Given the description of an element on the screen output the (x, y) to click on. 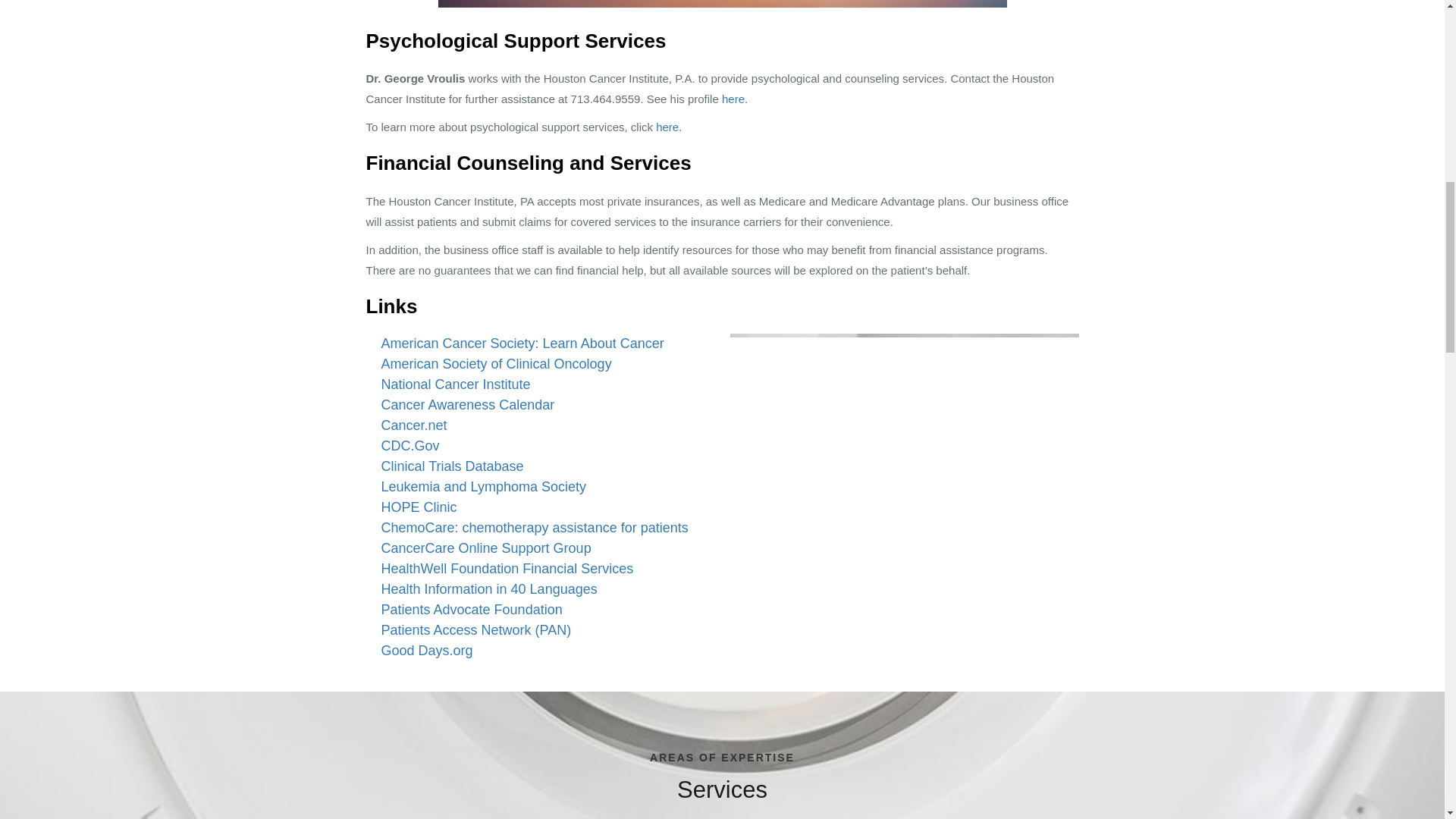
National Cancer Institute (454, 384)
American Society of Clinical Oncology (495, 363)
HOPE Clinic (418, 507)
Clinical Trials Database (451, 466)
here (733, 98)
Cancer.net (413, 425)
Leukemia and Lymphoma Society (482, 486)
here (667, 126)
American Cancer Society: Learn About Cancer (521, 343)
Cancer Awareness Calendar (467, 404)
